Given the description of an element on the screen output the (x, y) to click on. 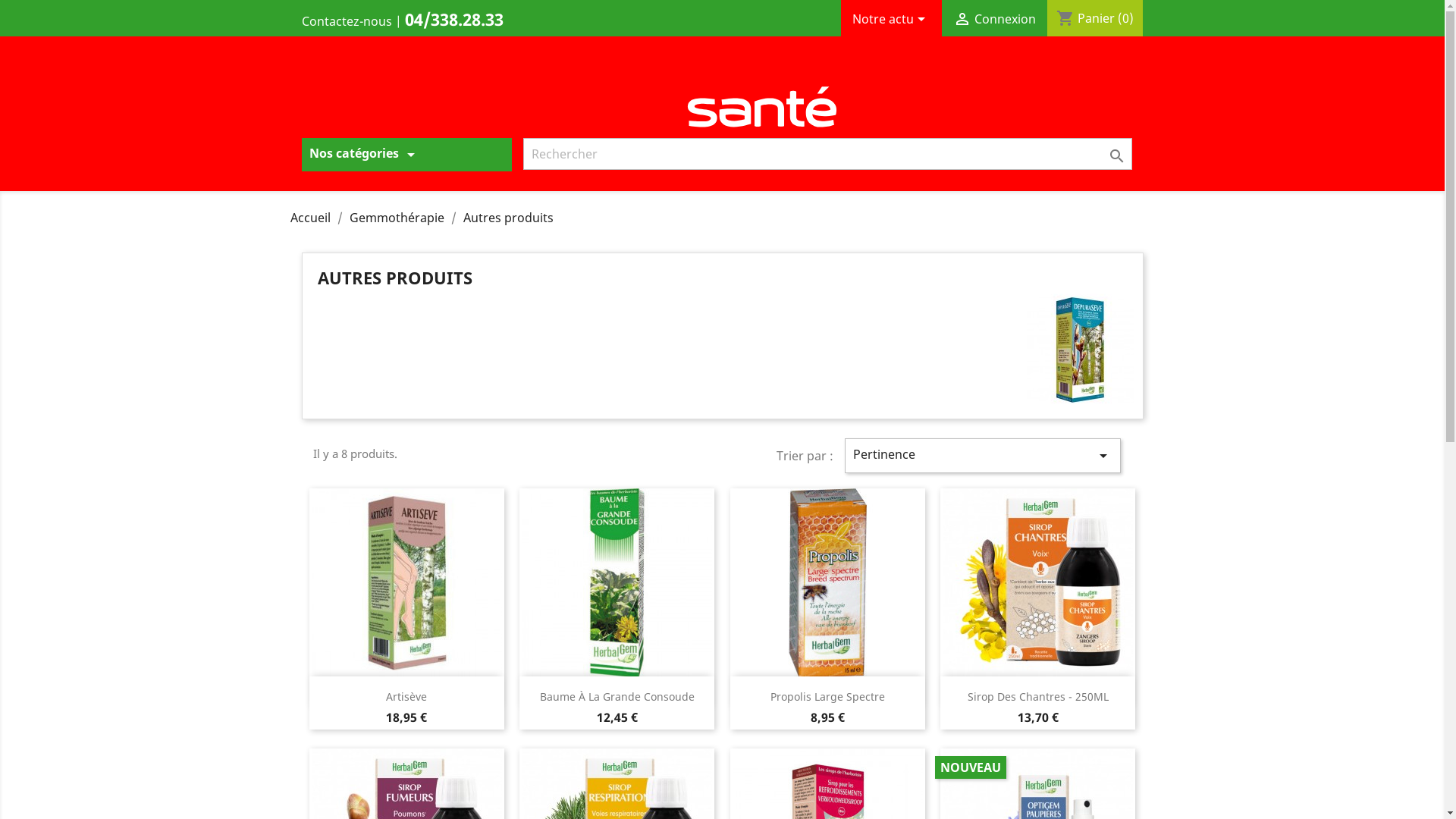
Autres produits Element type: text (507, 217)
Contactez-nous Element type: text (346, 20)
Sirop Des Chantres - 250ML Element type: text (1037, 696)
Propolis Large Spectre Element type: text (827, 696)
Accueil Element type: text (310, 217)
